Given the description of an element on the screen output the (x, y) to click on. 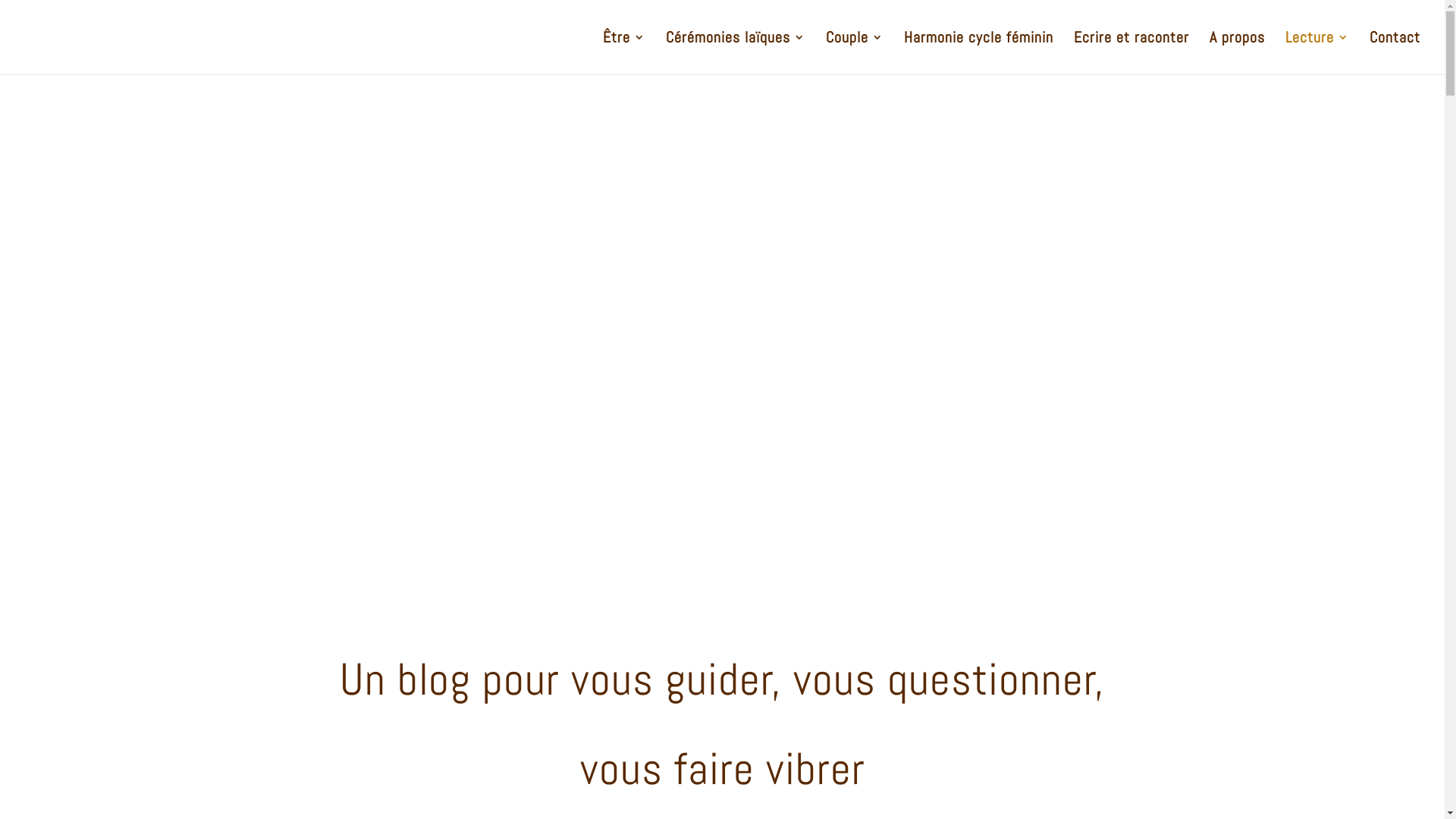
A propos Element type: text (1236, 52)
Ecrire et raconter Element type: text (1131, 52)
Lecture Element type: text (1317, 52)
Contact Element type: text (1394, 52)
Couple Element type: text (854, 52)
